Given the description of an element on the screen output the (x, y) to click on. 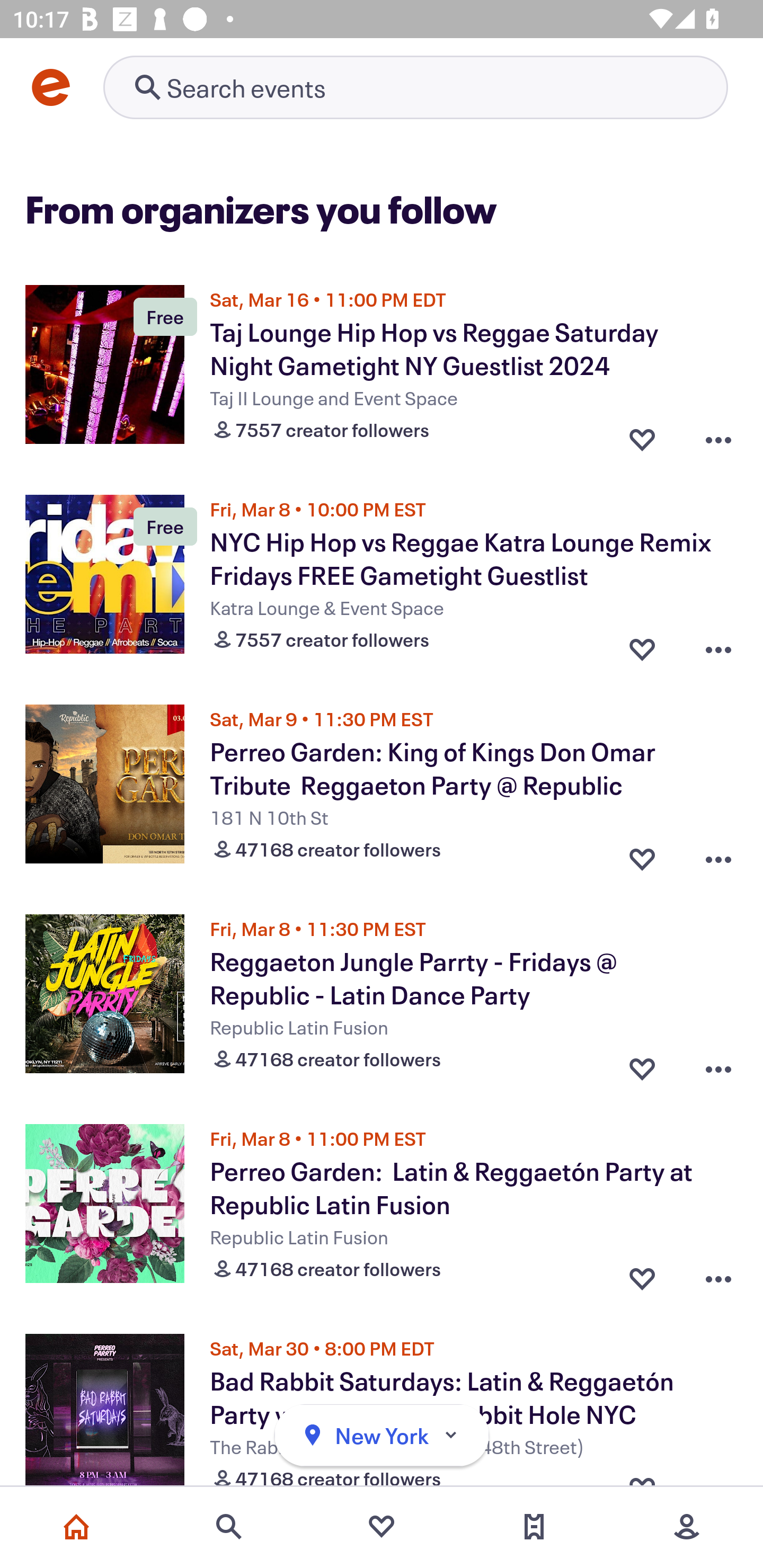
Retry's image Search events (415, 86)
Favorite button (642, 434)
Overflow menu button (718, 434)
Favorite button (642, 644)
Overflow menu button (718, 644)
Favorite button (642, 855)
Overflow menu button (718, 855)
Favorite button (642, 1065)
Overflow menu button (718, 1065)
Favorite button (642, 1274)
Overflow menu button (718, 1274)
New York (381, 1435)
Home (76, 1526)
Search events (228, 1526)
Favorites (381, 1526)
Tickets (533, 1526)
More (686, 1526)
